Given the description of an element on the screen output the (x, y) to click on. 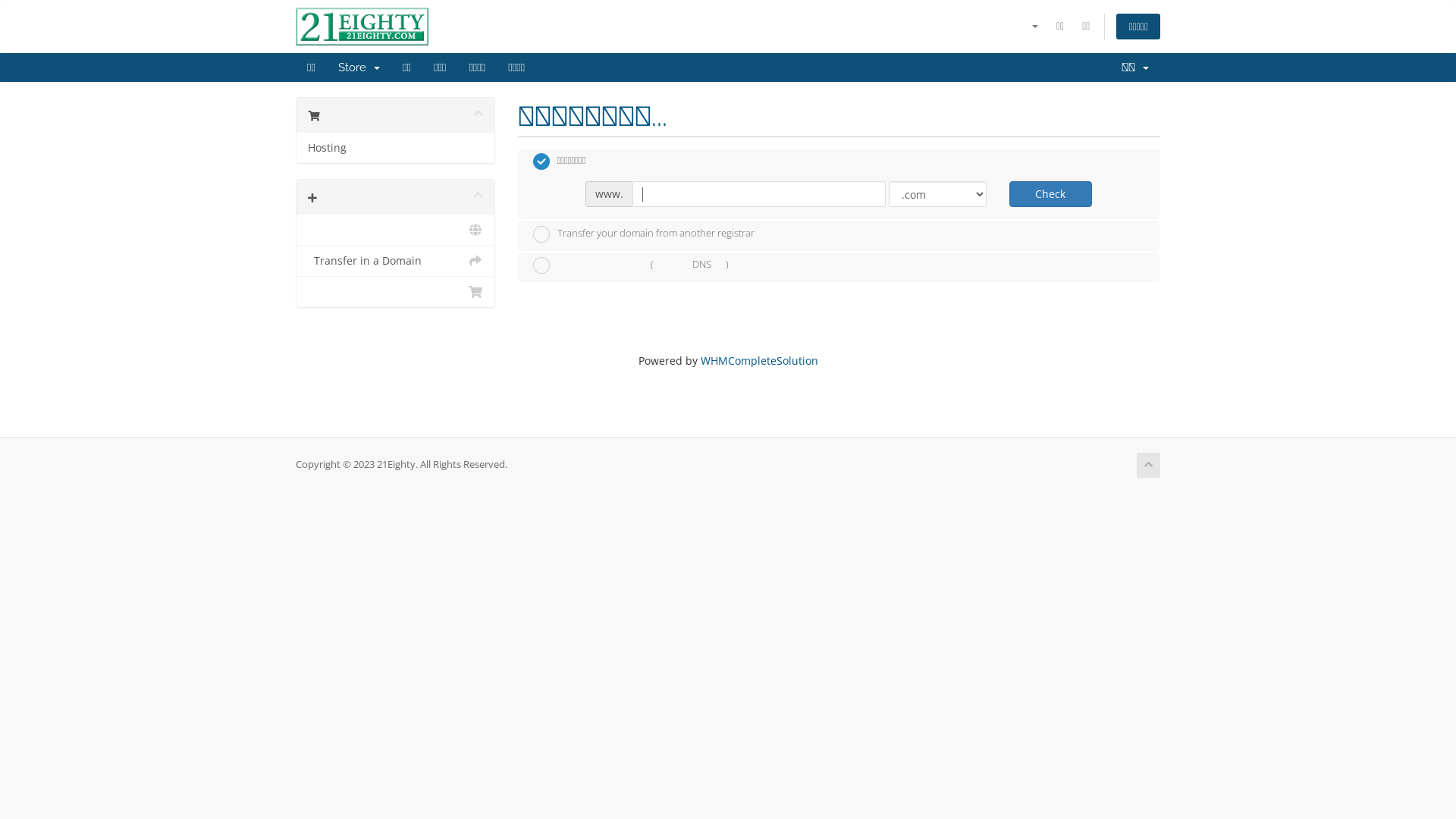
Please enter your domain Element type: hover (758, 194)
Hosting Element type: text (395, 147)
Check Element type: text (1050, 194)
  Transfer in a Domain Element type: text (395, 260)
WHMCompleteSolution Element type: text (759, 360)
Store   Element type: text (358, 67)
